Given the description of an element on the screen output the (x, y) to click on. 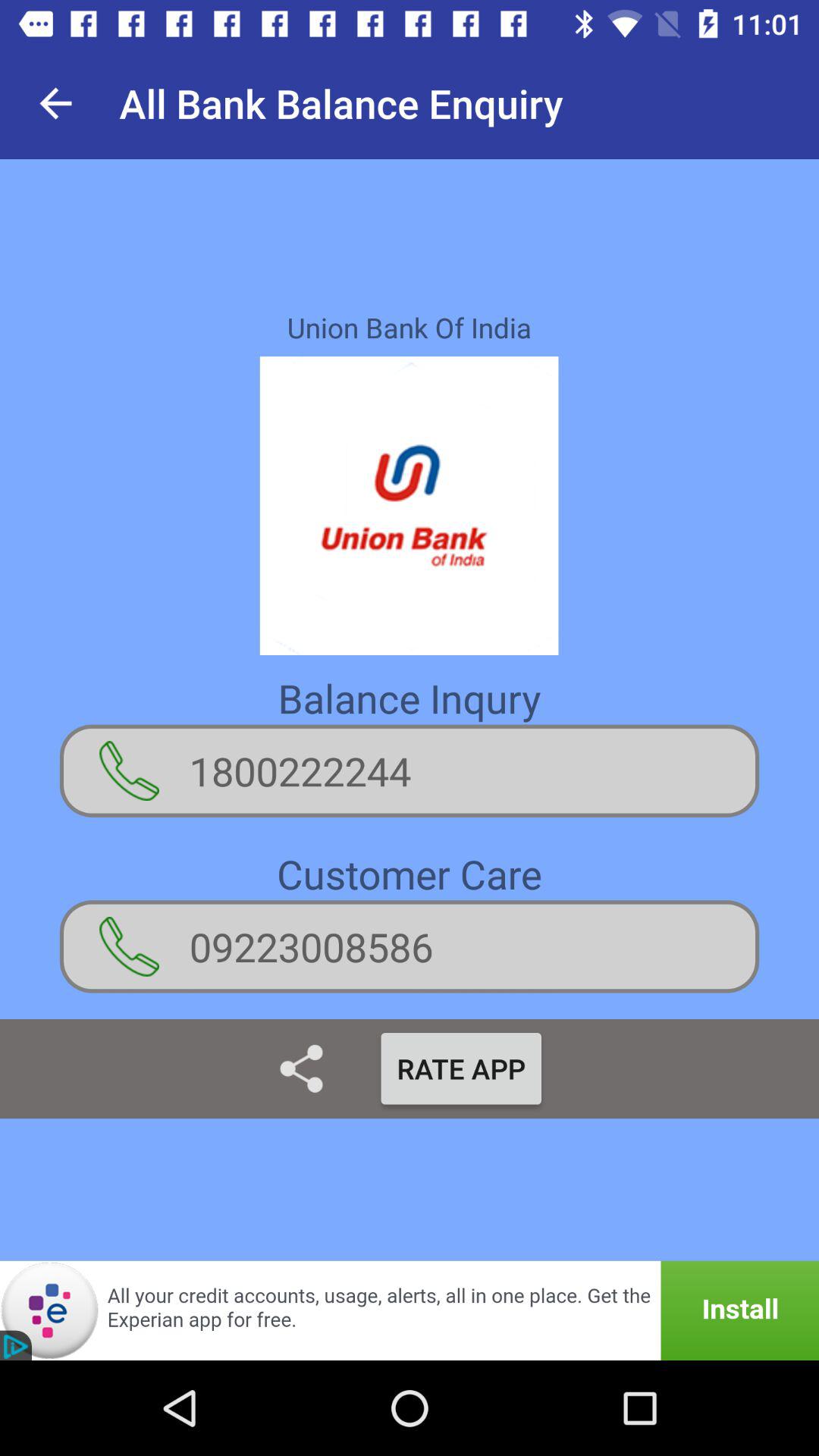
select icon above union bank of (55, 103)
